Given the description of an element on the screen output the (x, y) to click on. 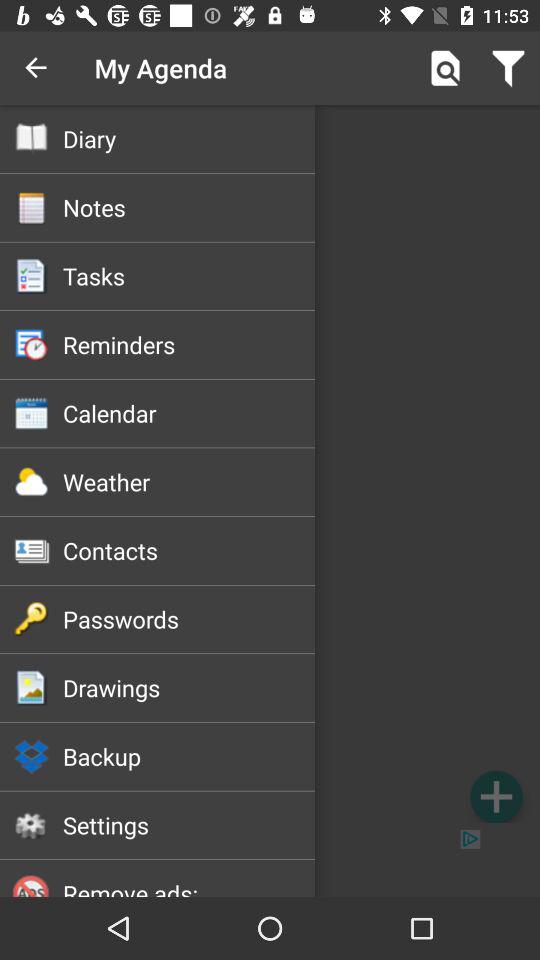
choose the icon next to the backup (496, 796)
